Given the description of an element on the screen output the (x, y) to click on. 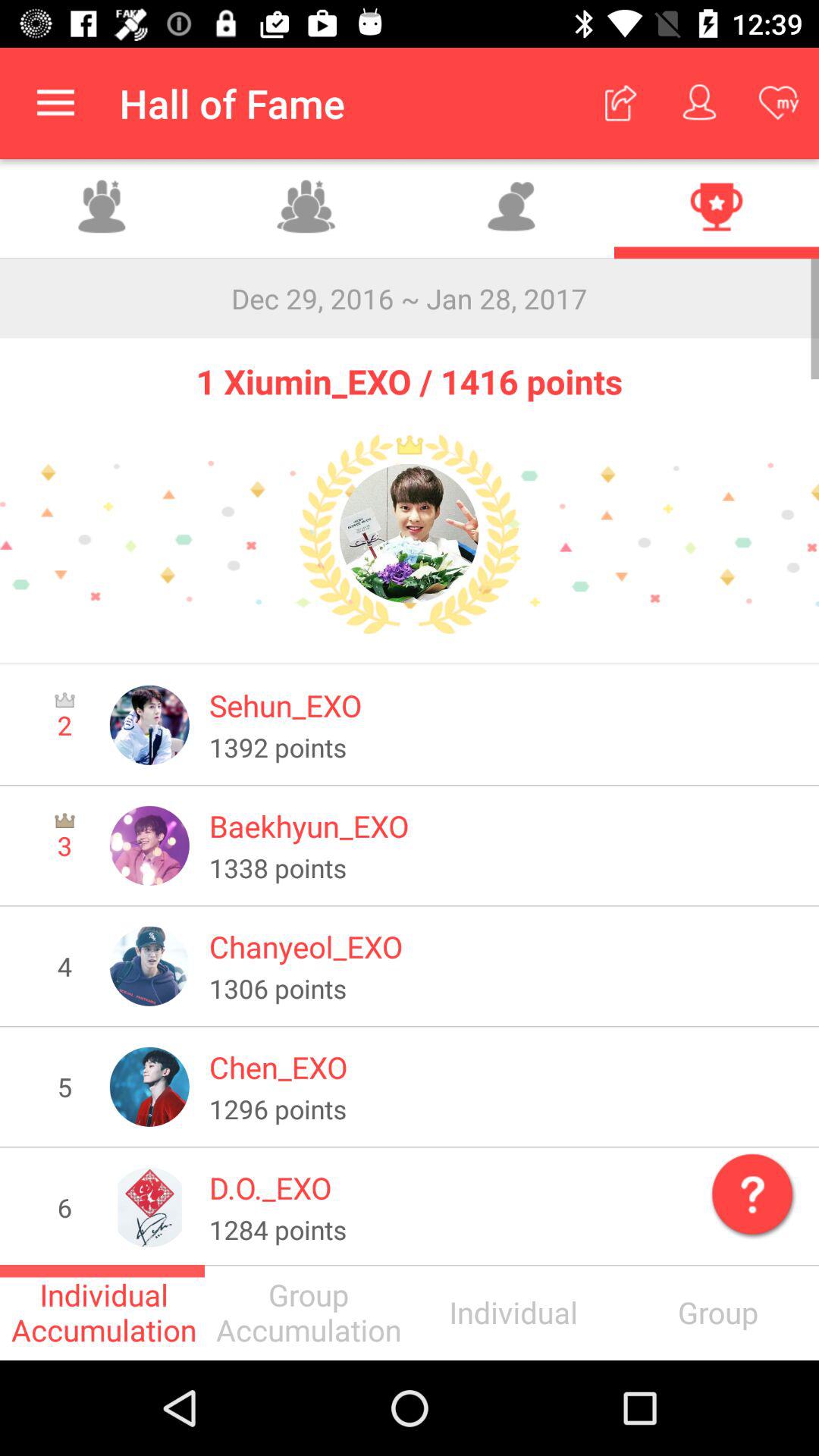
jump to chanyeol_exo (504, 946)
